Given the description of an element on the screen output the (x, y) to click on. 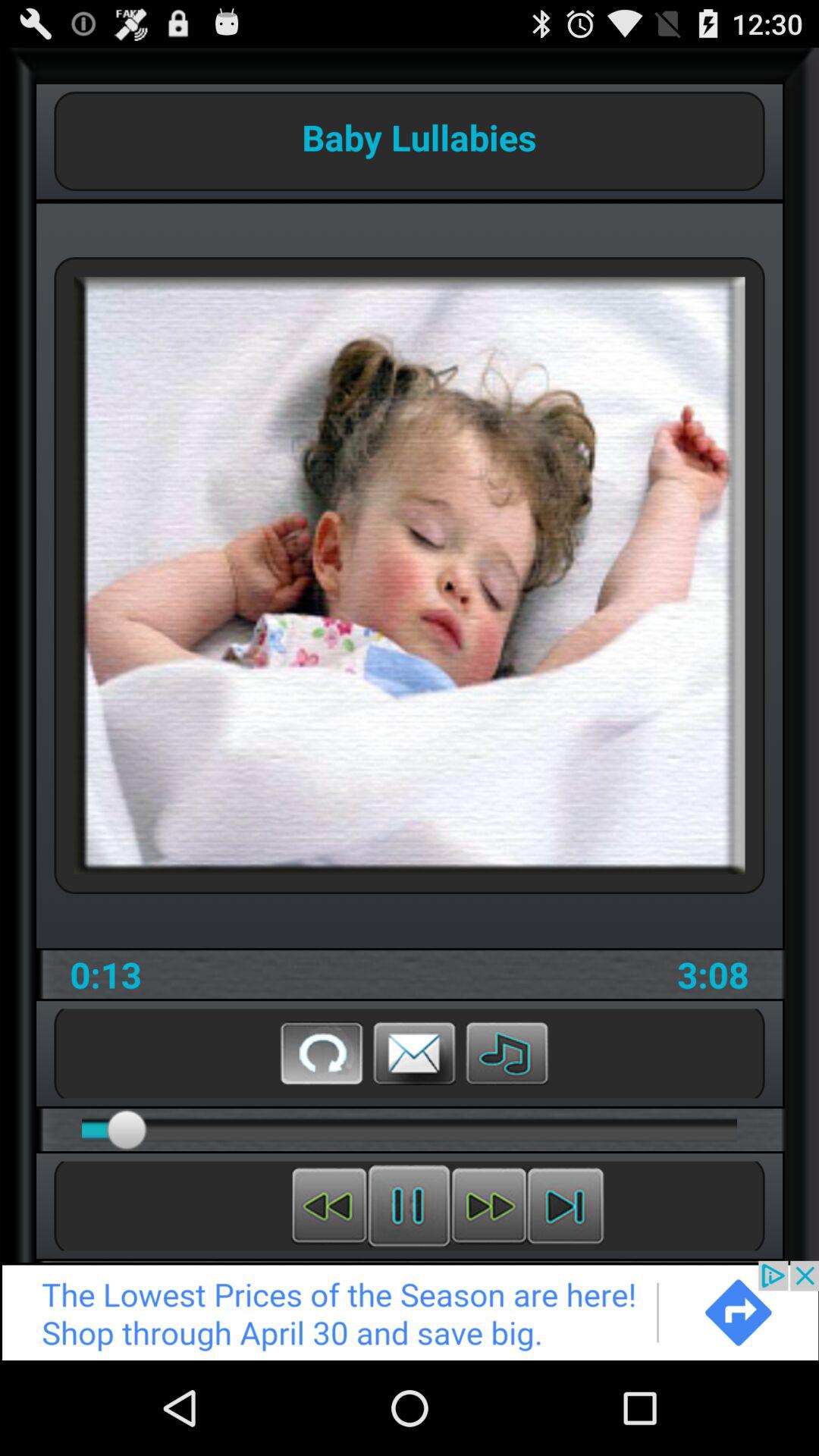
restart audio playback (329, 1205)
